Given the description of an element on the screen output the (x, y) to click on. 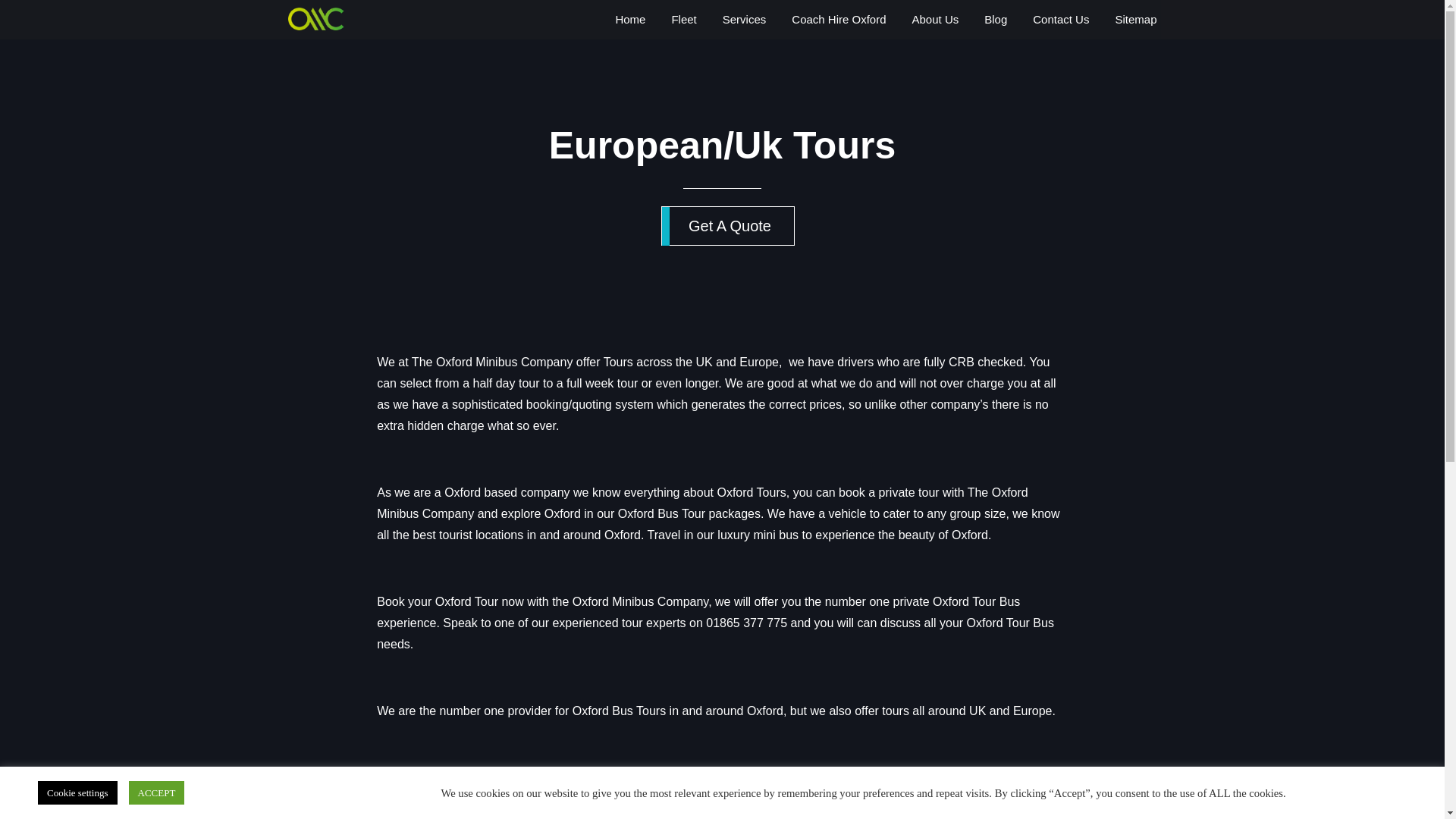
Get A Quote (727, 225)
About Us (935, 19)
Services (744, 19)
Home (629, 19)
Fleet (683, 19)
Blog (995, 19)
Coach Hire Oxford (838, 19)
Contact Us (1060, 19)
Sitemap (1135, 19)
